Given the description of an element on the screen output the (x, y) to click on. 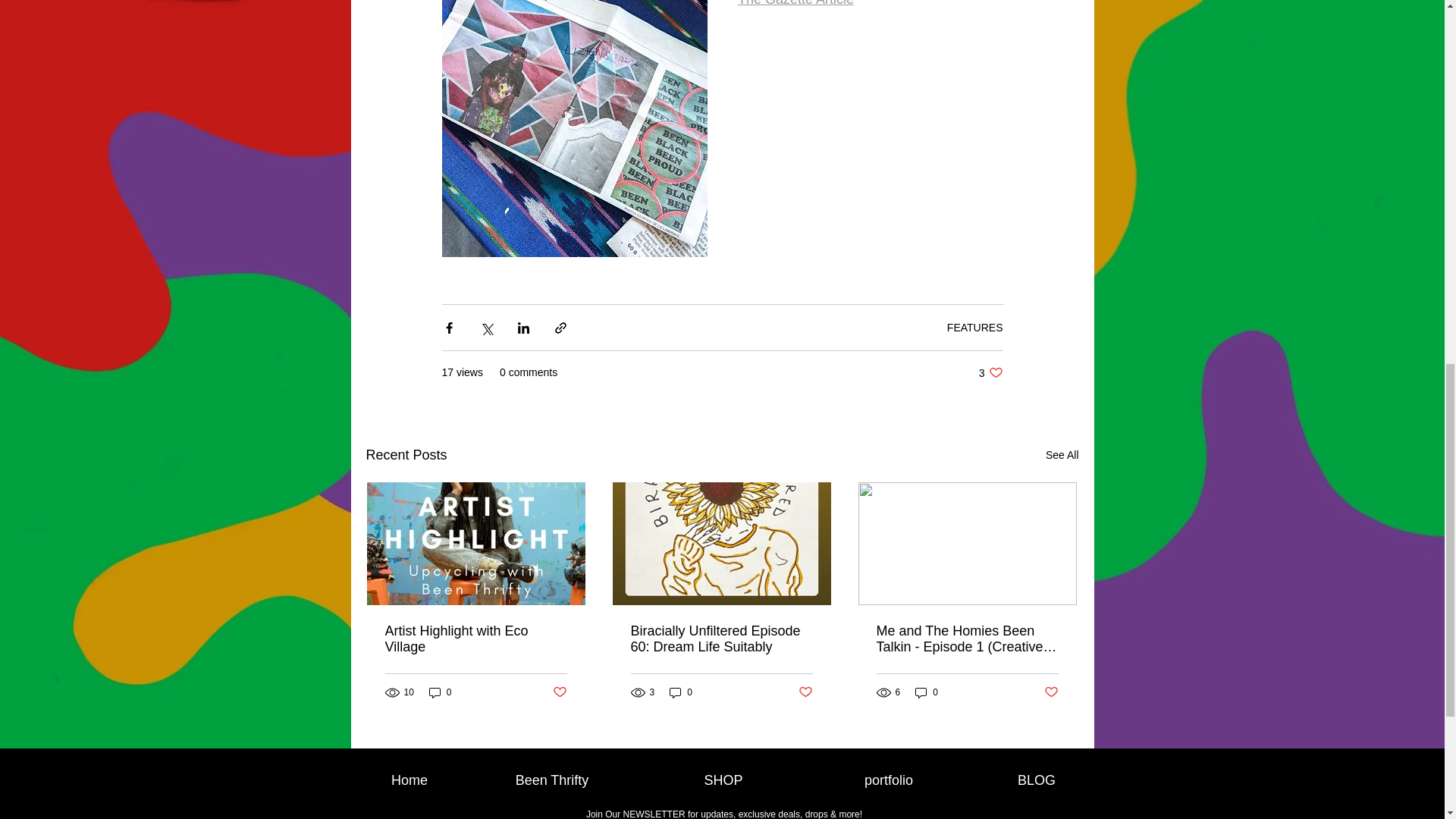
Biracially Unfiltered Episode 60: Dream Life Suitably (721, 639)
The Gazette Article (794, 3)
portfolio (888, 779)
Been Thrifty (990, 372)
FEATURES (551, 779)
Post not marked as liked (975, 327)
See All (1050, 692)
Artist Highlight with Eco Village (1061, 455)
0 (476, 639)
